Given the description of an element on the screen output the (x, y) to click on. 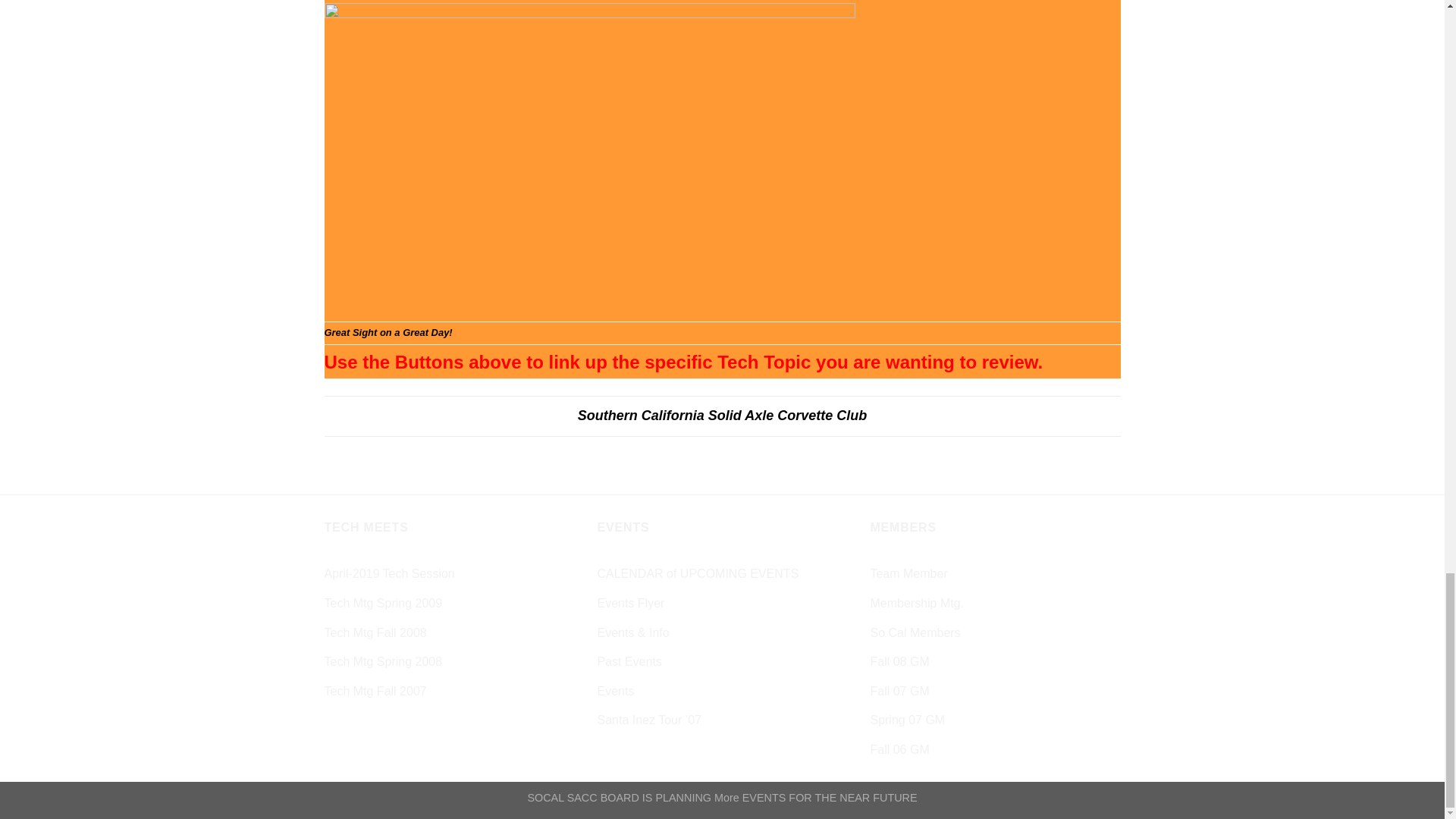
Fall 06 GM (898, 749)
Past Events (628, 661)
Fall 07 GM (898, 691)
Spring 07 GM (906, 719)
Events Flyer (629, 603)
Membership Mtg. (916, 603)
Tech Mtg Spring 2009 (383, 603)
Tech Mtg Fall 2007 (375, 691)
Tech Mtg Fall 2008 (375, 632)
Tech Mtg Spring 2008 (383, 661)
